Given the description of an element on the screen output the (x, y) to click on. 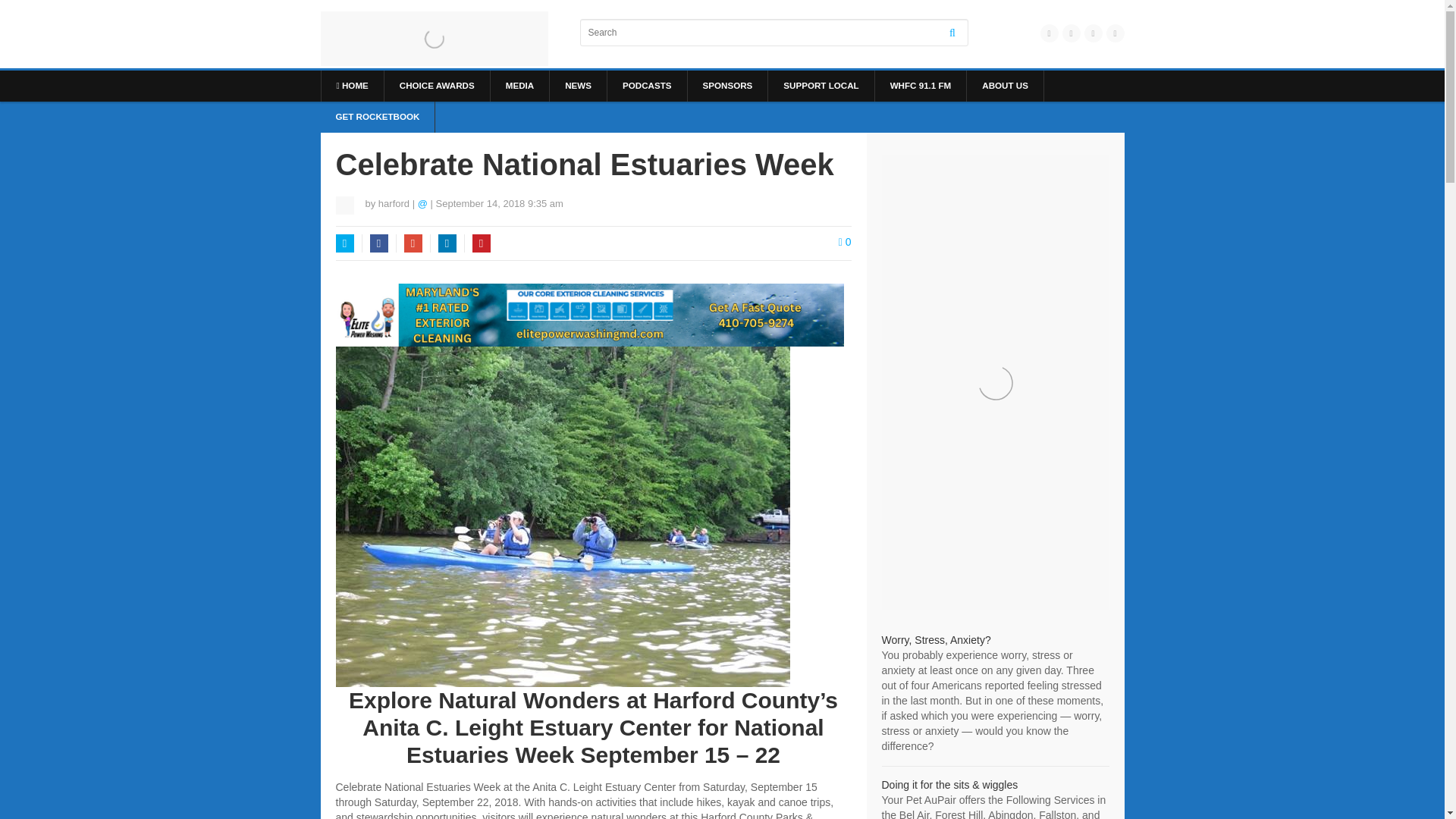
0 (844, 241)
Twitter (343, 243)
LinkedIn (447, 243)
Pinterest (480, 243)
Your Pet AuPair (948, 784)
SPONSORS (727, 85)
PODCASTS (647, 85)
SUPPORT LOCAL (820, 85)
CHOICE AWARDS (436, 85)
GET ROCKETBOOK (376, 116)
